Given the description of an element on the screen output the (x, y) to click on. 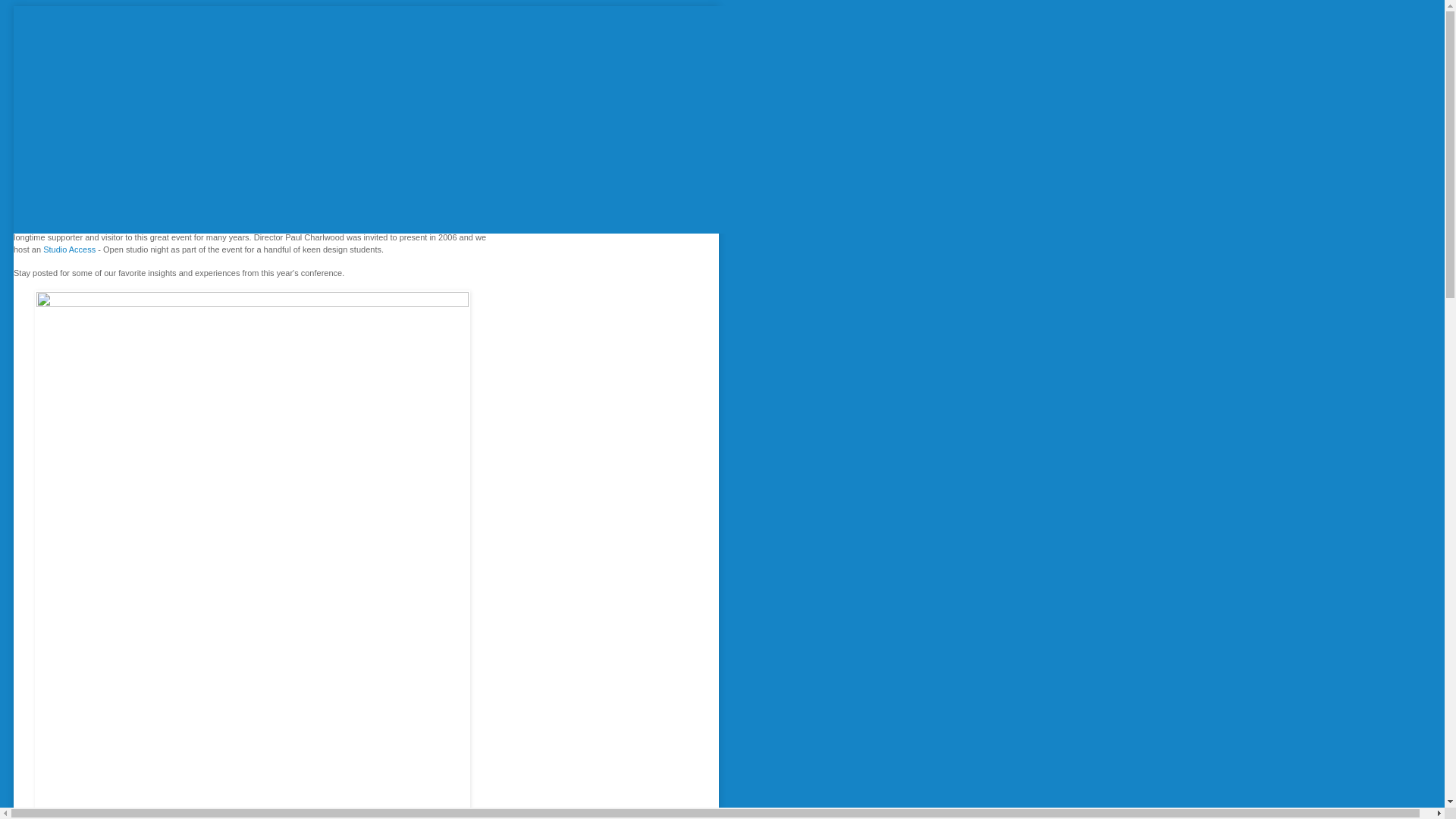
Charlwood Design Element type: text (47, 225)
AGIdeas International Design conference Element type: text (314, 225)
Studio Access Element type: text (70, 249)
